Given the description of an element on the screen output the (x, y) to click on. 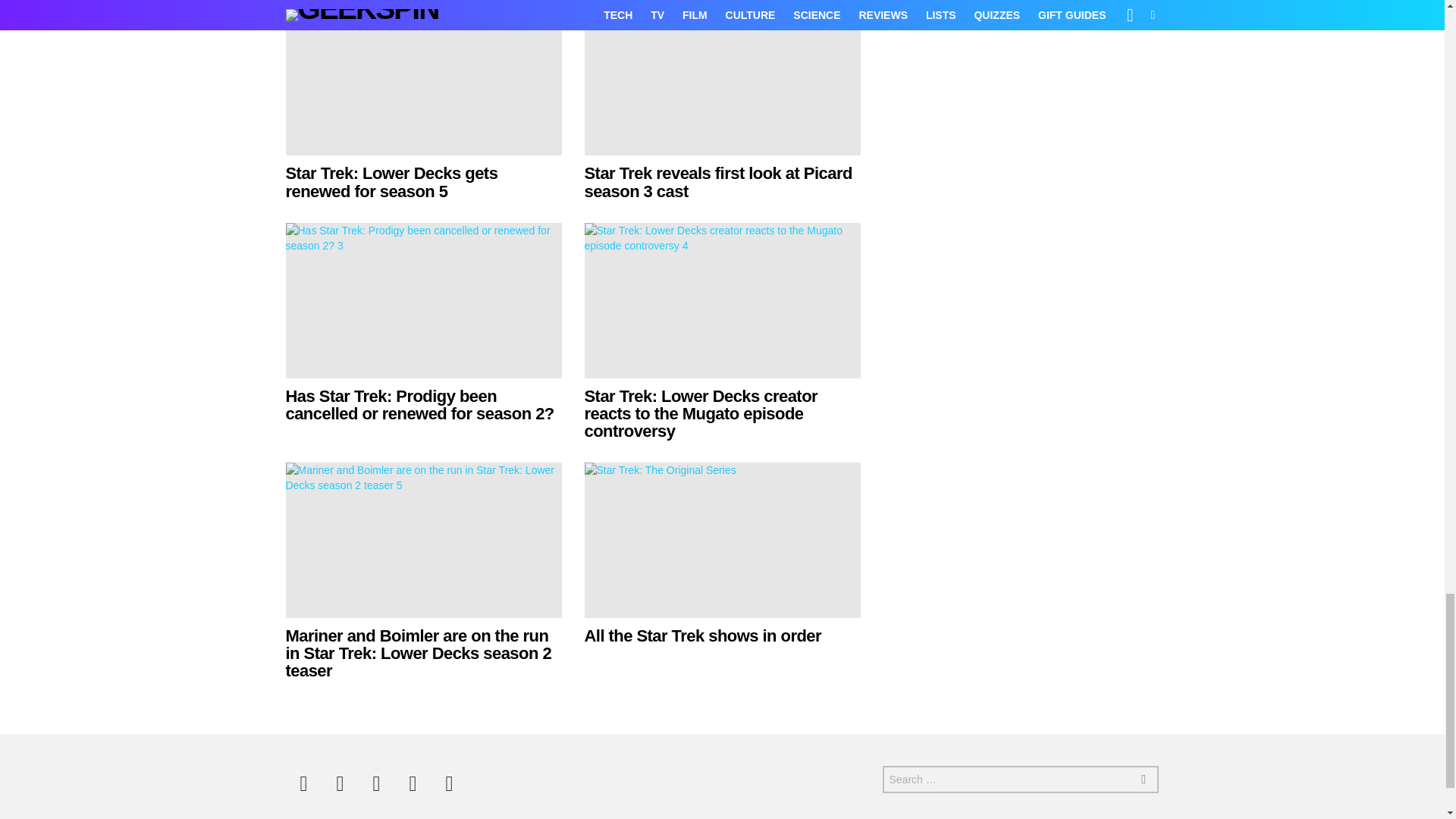
Star Trek reveals first look at Picard season 3 cast (717, 181)
Star Trek reveals first look at Picard season 3 cast (721, 77)
Star Trek: Lower Decks gets renewed for season 5 (391, 181)
Star Trek: Lower Decks gets renewed for season 5 (422, 77)
